Given the description of an element on the screen output the (x, y) to click on. 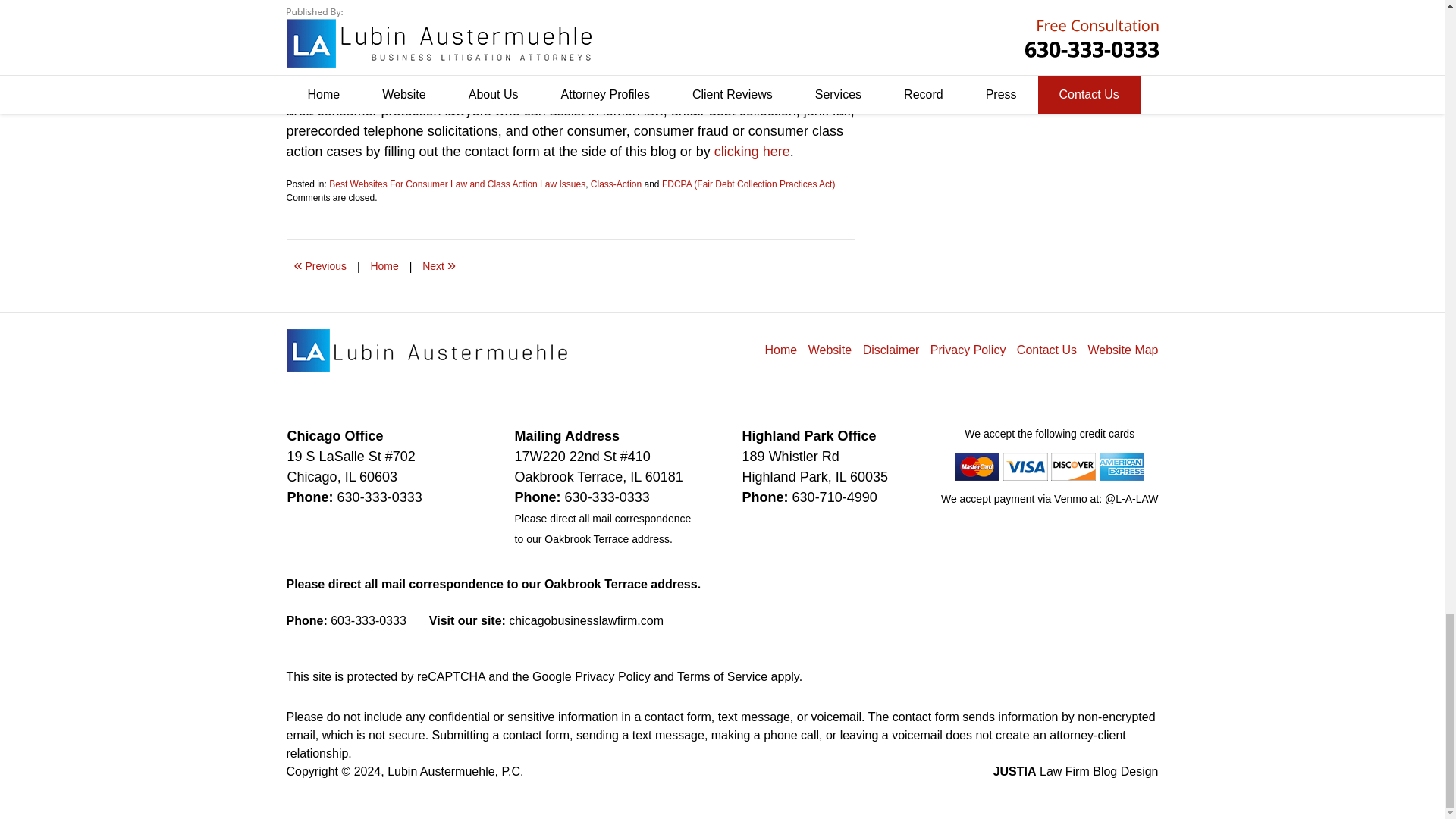
here (601, 89)
View all posts in Class-Action (616, 184)
click here (418, 48)
clicking here (752, 151)
Best Websites For Consumer Law and Class Action Law Issues (457, 184)
